Given the description of an element on the screen output the (x, y) to click on. 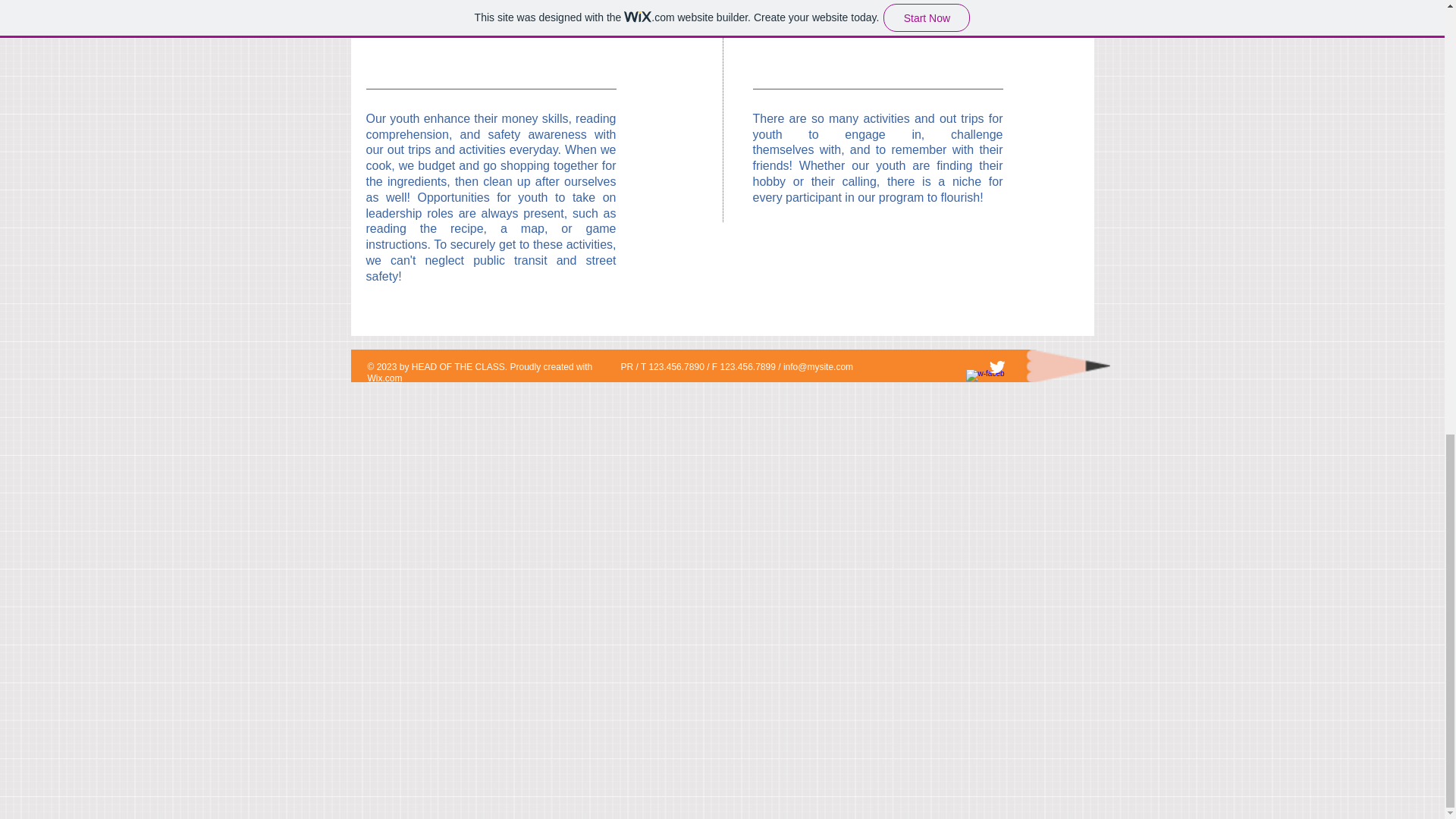
Wix.com (383, 378)
